Given the description of an element on the screen output the (x, y) to click on. 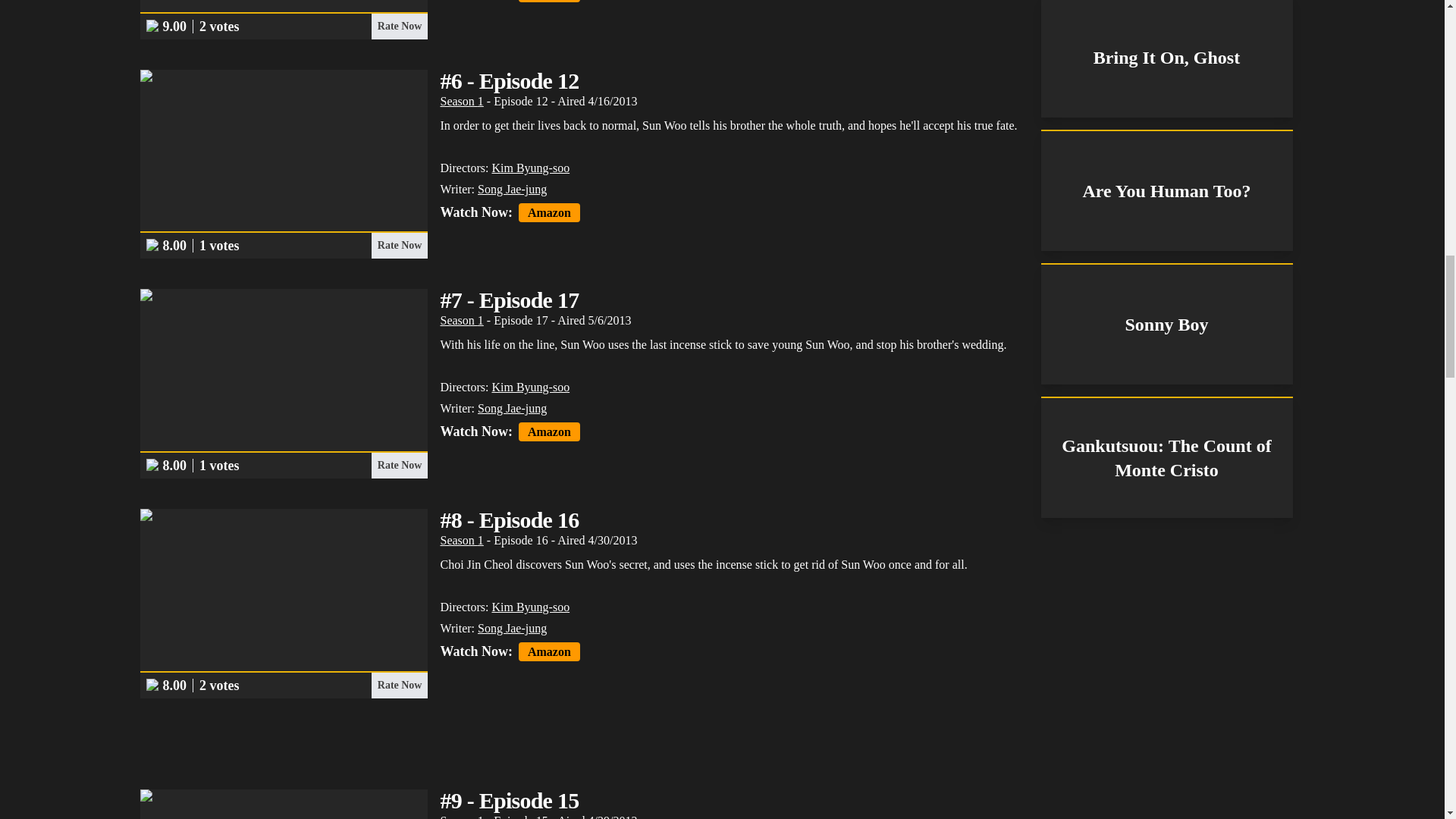
Song Jae-jung (512, 188)
Season 1 (461, 101)
Rate Now (399, 245)
Rate Now (399, 26)
Amazon (548, 212)
Amazon (548, 1)
Kim Byung-soo (530, 167)
